Given the description of an element on the screen output the (x, y) to click on. 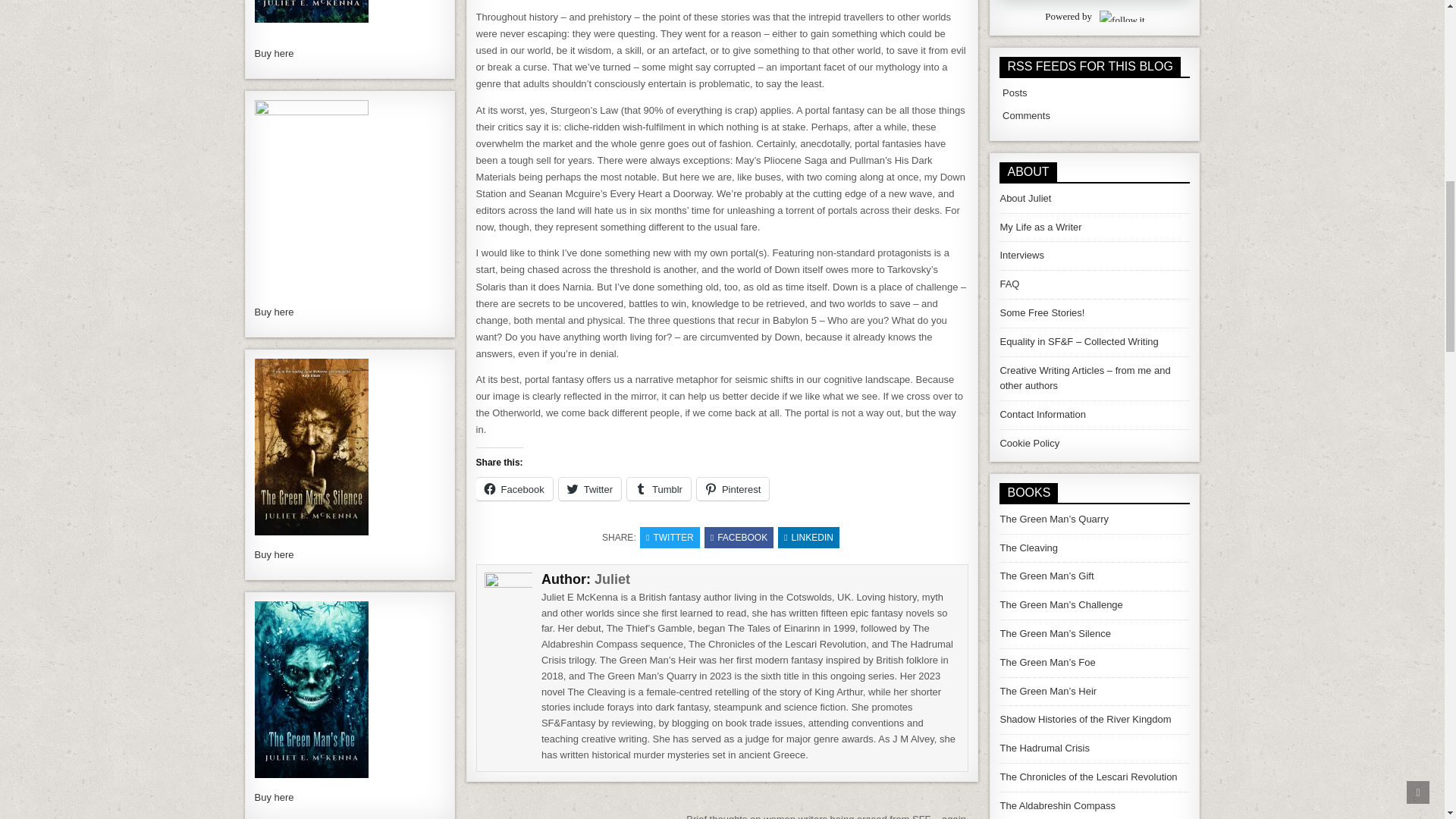
Share this on Linkedin (808, 537)
Click to share on Tumblr (658, 488)
Tweet This! (670, 537)
Click to share on Pinterest (732, 488)
Click to share on Twitter (590, 488)
Share this on Facebook (738, 537)
Click to share on Facebook (514, 488)
